Given the description of an element on the screen output the (x, y) to click on. 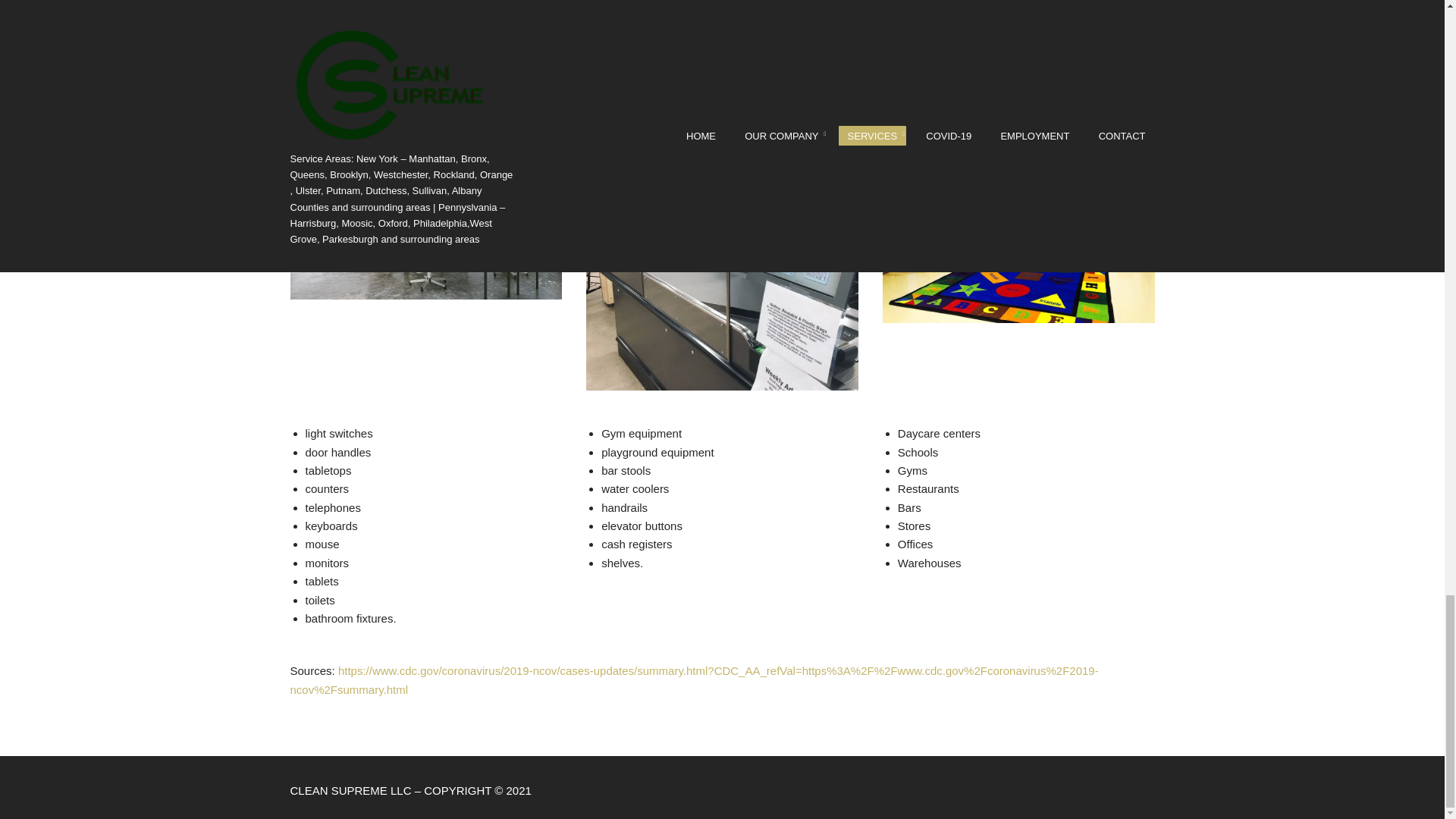
CLEAN SUPREME LLC (351, 789)
